Given the description of an element on the screen output the (x, y) to click on. 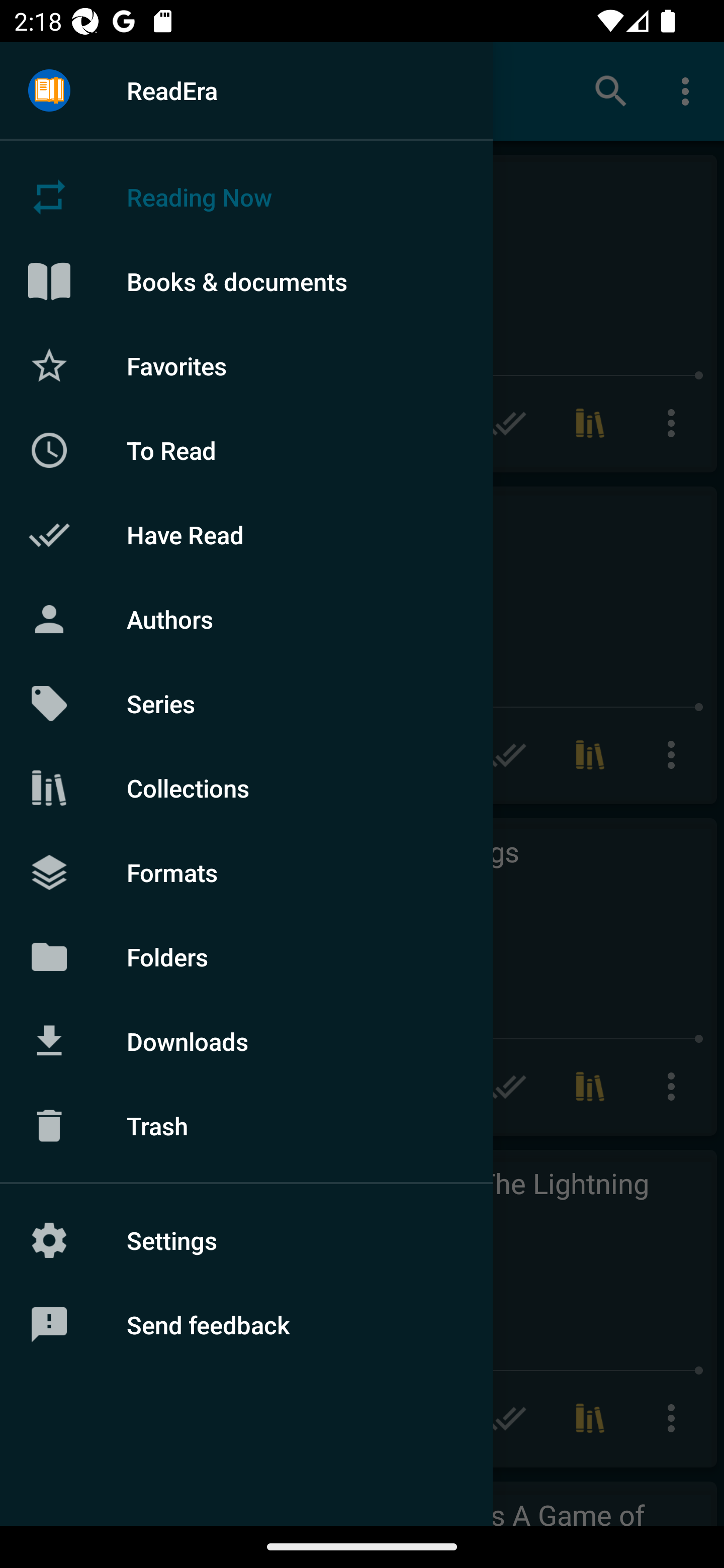
Menu (49, 91)
ReadEra (246, 89)
Search books & documents (611, 90)
More options (688, 90)
Reading Now (246, 197)
Books & documents (246, 281)
Favorites (246, 365)
To Read (246, 449)
Have Read (246, 534)
Authors (246, 619)
Series (246, 703)
Collections (246, 787)
Formats (246, 871)
Folders (246, 956)
Downloads (246, 1040)
Trash (246, 1125)
Settings (246, 1239)
Send feedback (246, 1324)
